Given the description of an element on the screen output the (x, y) to click on. 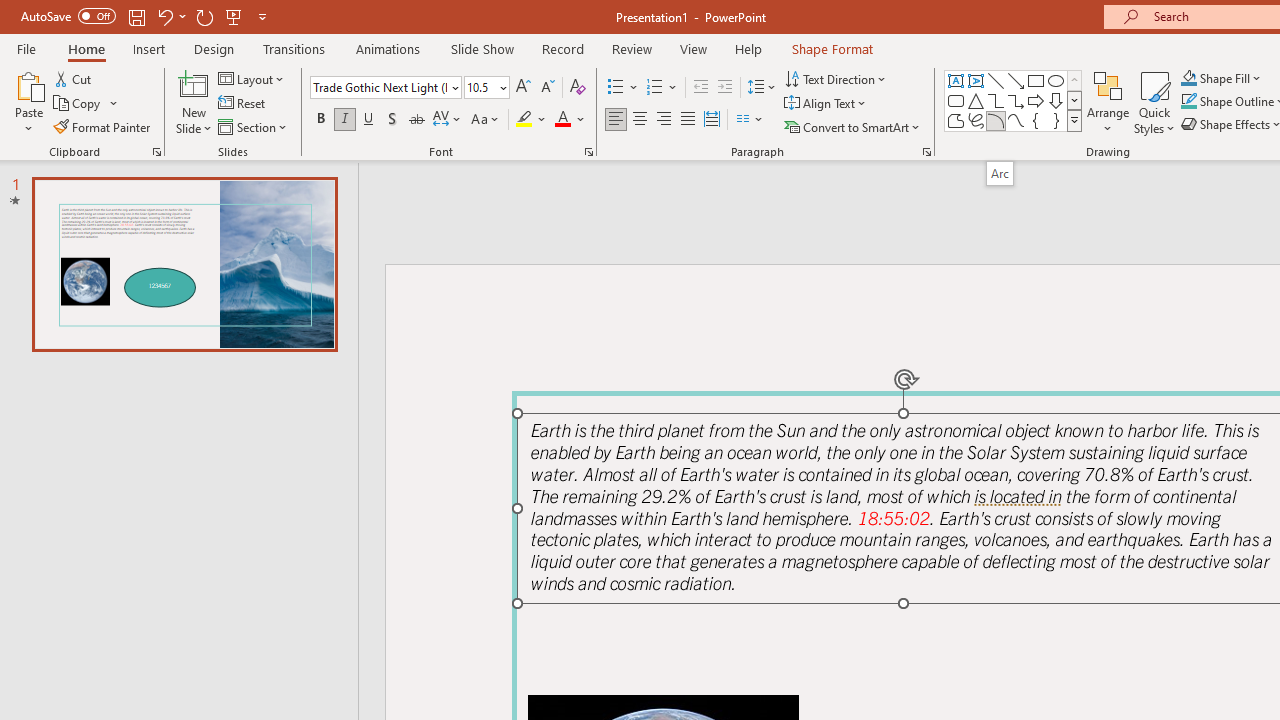
Shape Outline Teal, Accent 1 (1188, 101)
